Given the description of an element on the screen output the (x, y) to click on. 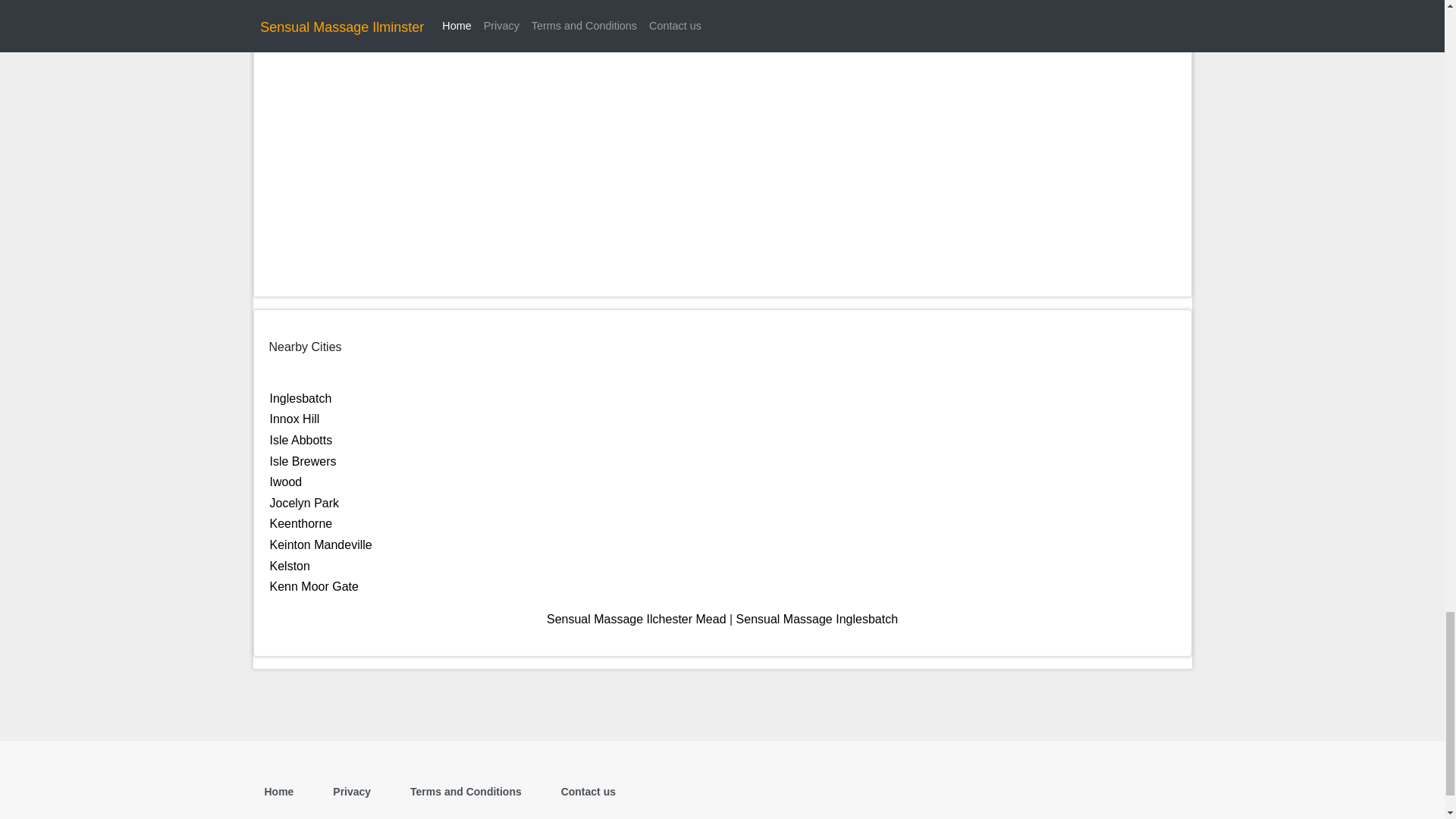
Innox Hill (294, 418)
Keinton Mandeville (320, 544)
Jocelyn Park (304, 502)
Isle Abbotts (301, 440)
Sensual Massage Ilchester Mead (636, 618)
Inglesbatch (300, 398)
Sensual Massage Inglesbatch (817, 618)
Iwood (285, 481)
Isle Brewers (302, 461)
Kenn Moor Gate (313, 585)
